Given the description of an element on the screen output the (x, y) to click on. 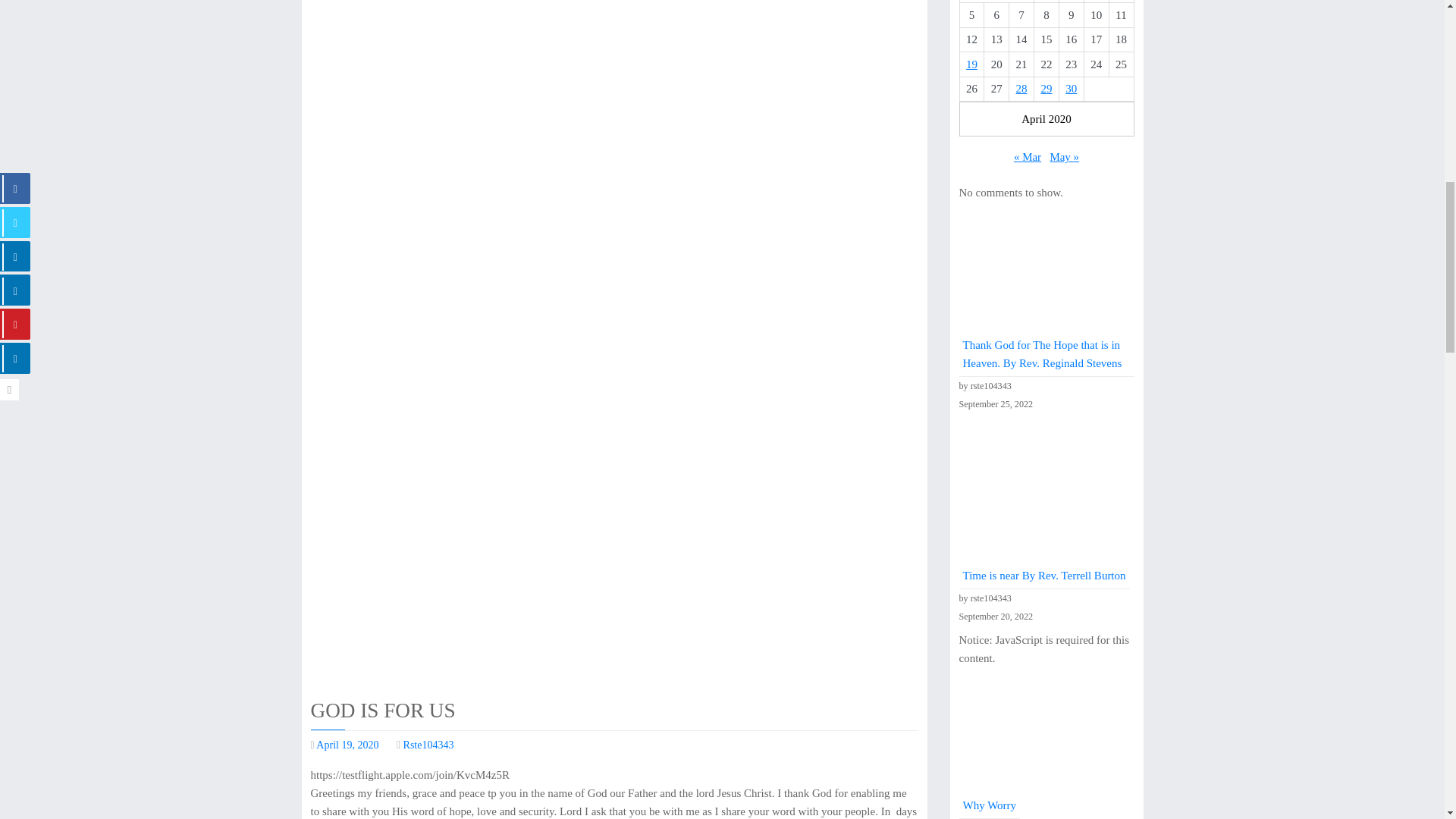
Time is near By Rev. Terrell Burton (1043, 575)
Rste104343 (428, 745)
Why Worry (989, 805)
19 (971, 64)
April 19, 2020 (346, 745)
28 (1021, 88)
30 (1071, 88)
29 (1046, 88)
